Given the description of an element on the screen output the (x, y) to click on. 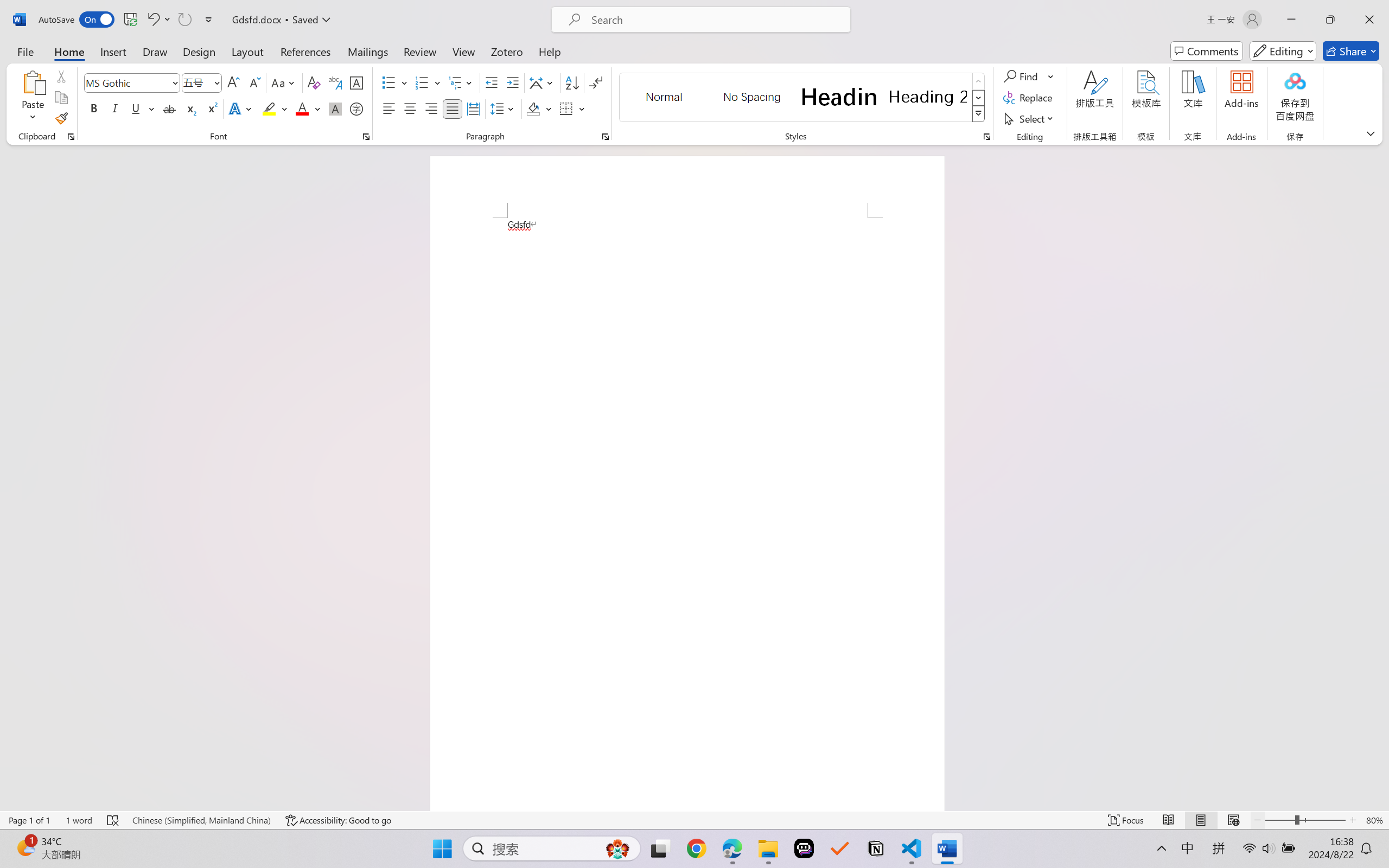
Zoom 80% (1374, 819)
Undo Font Formatting (152, 19)
